Given the description of an element on the screen output the (x, y) to click on. 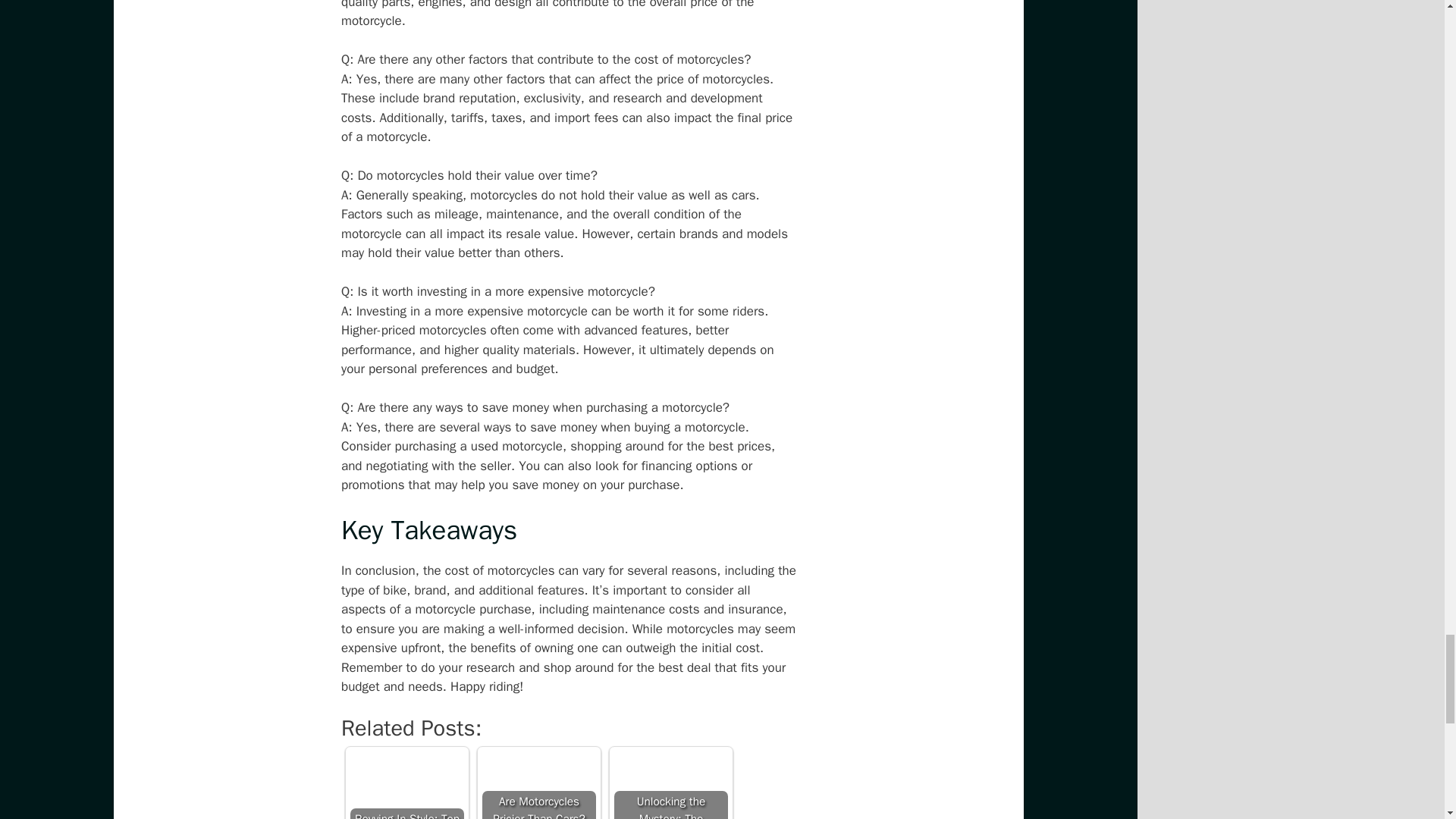
Are Motorcycles Pricier Than Cars? Decoding the Cost Myth (538, 785)
Are Motorcycles Pricier Than Cars? Decoding the Cost Myth (538, 785)
